Given the description of an element on the screen output the (x, y) to click on. 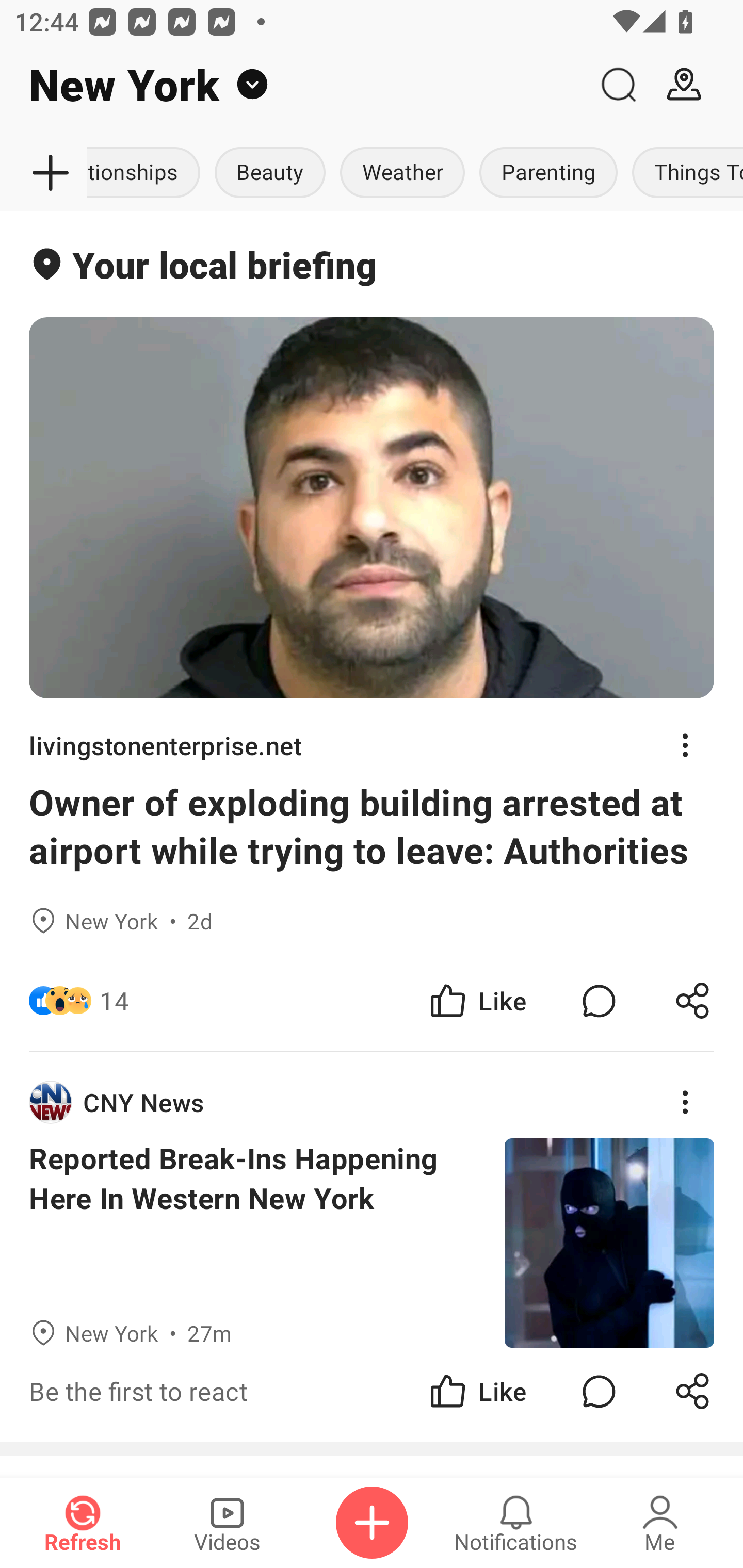
New York (292, 84)
Relationships (146, 172)
Beauty (269, 172)
Weather (401, 172)
Parenting (547, 172)
Things To Do (683, 172)
14 (114, 1001)
Like (476, 1001)
Be the first to react (244, 1391)
Like (476, 1391)
Videos (227, 1522)
Notifications (516, 1522)
Me (659, 1522)
